Given the description of an element on the screen output the (x, y) to click on. 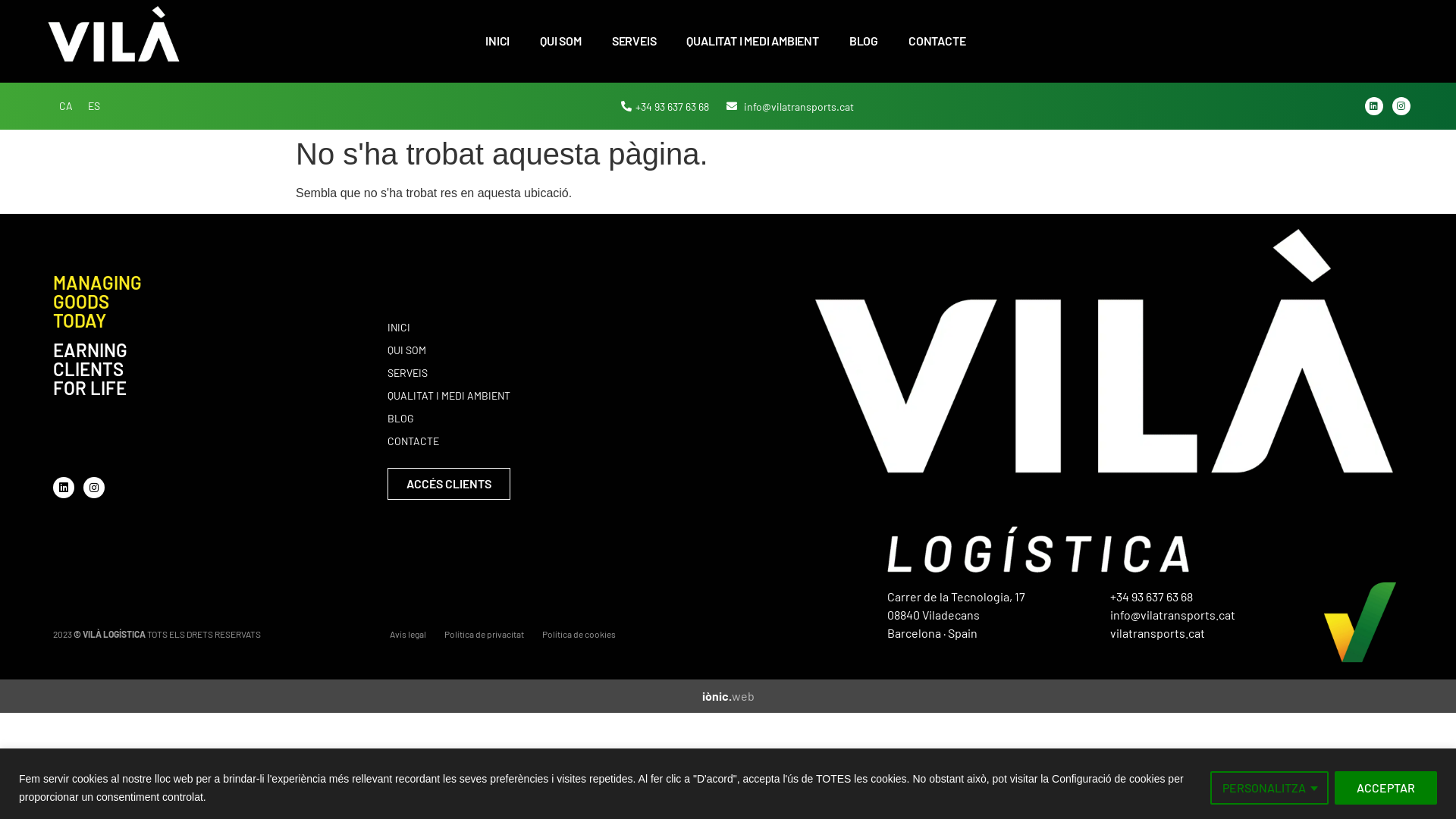
CONTACTE Element type: text (936, 40)
INICI Element type: text (593, 327)
Carrer de la Tecnologia, 17 Element type: text (956, 596)
ACCEPTAR Element type: text (1385, 786)
08840 Viladecans Element type: text (933, 614)
SERVEIS Element type: text (593, 372)
CA Element type: text (65, 106)
QUI SOM Element type: text (560, 40)
info@vilatransports.cat Element type: text (789, 106)
QUALITAT I MEDI AMBIENT Element type: text (593, 395)
PERSONALITZA Element type: text (1269, 786)
INICI Element type: text (497, 40)
QUI SOM Element type: text (593, 349)
vilatransports.cat Element type: text (1157, 632)
SERVEIS Element type: text (633, 40)
ES Element type: text (93, 106)
CONTACTE Element type: text (593, 440)
info@vilatransports.cat Element type: text (1172, 614)
BLOG Element type: text (593, 418)
BLOG Element type: text (863, 40)
+34 93 637 63 68  Element type: text (665, 106)
+34 93 637 63 68 Element type: text (1151, 596)
QUALITAT I MEDI AMBIENT Element type: text (752, 40)
